Given the description of an element on the screen output the (x, y) to click on. 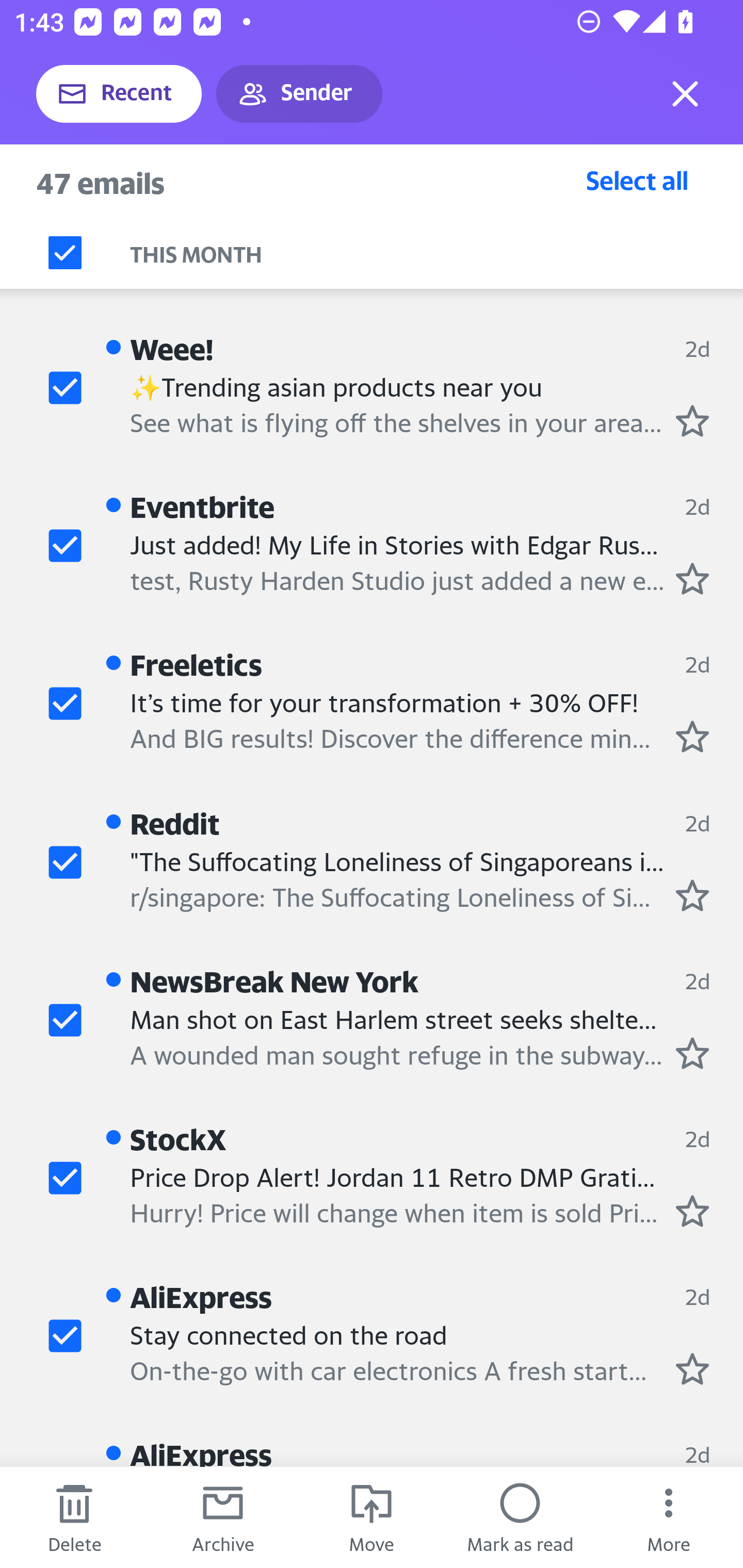
Sender (299, 93)
Exit selection mode (684, 93)
Select all (637, 180)
Mark as starred. (692, 420)
Mark as starred. (692, 579)
Mark as starred. (692, 736)
Mark as starred. (692, 896)
Mark as starred. (692, 1052)
Mark as starred. (692, 1211)
Mark as starred. (692, 1369)
Delete (74, 1517)
Archive (222, 1517)
Move (371, 1517)
Mark as read (519, 1517)
More (668, 1517)
